Given the description of an element on the screen output the (x, y) to click on. 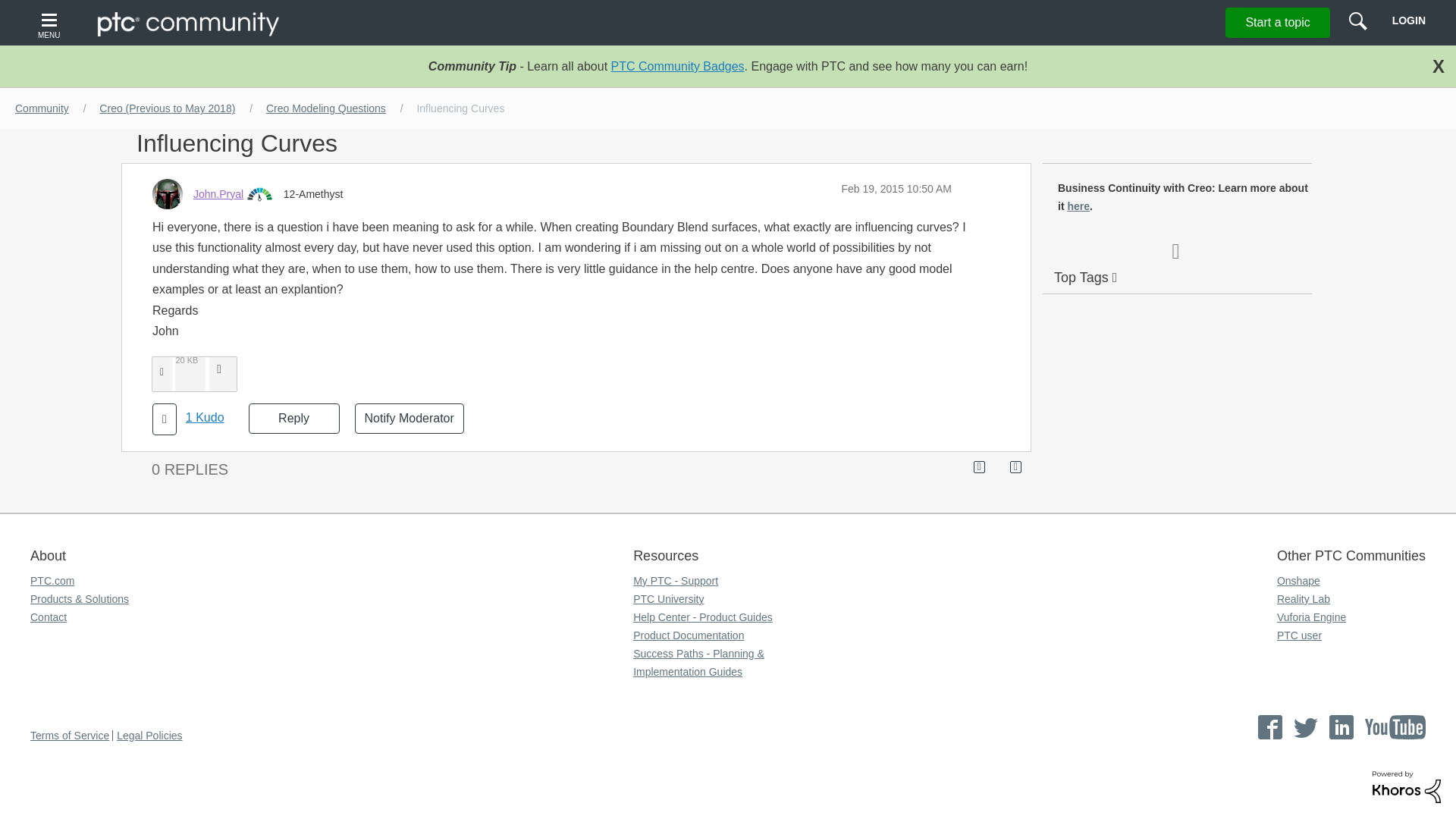
Notify Moderator (409, 418)
Community (42, 108)
LOGIN (1408, 20)
Reply (293, 418)
Creo Modeling Questions (326, 108)
John.Pryal (218, 193)
MENU (50, 22)
PTC Community Badges (677, 65)
Start a topic (1277, 22)
1 Kudo (204, 417)
